Given the description of an element on the screen output the (x, y) to click on. 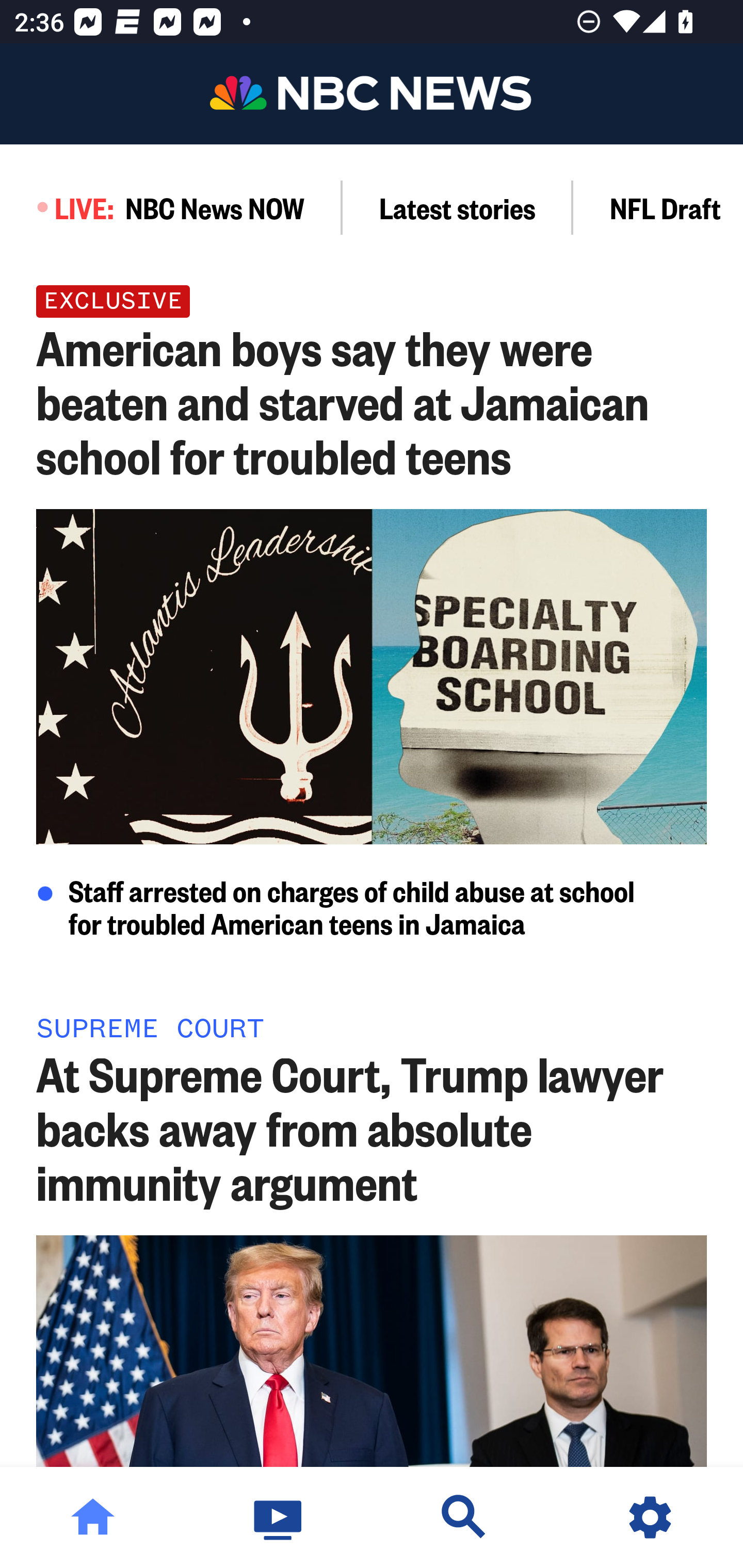
LIVE:  NBC News NOW (171, 207)
Latest stories Section,Latest stories (457, 207)
NFL Draft (658, 207)
Watch (278, 1517)
Discover (464, 1517)
Settings (650, 1517)
